Given the description of an element on the screen output the (x, y) to click on. 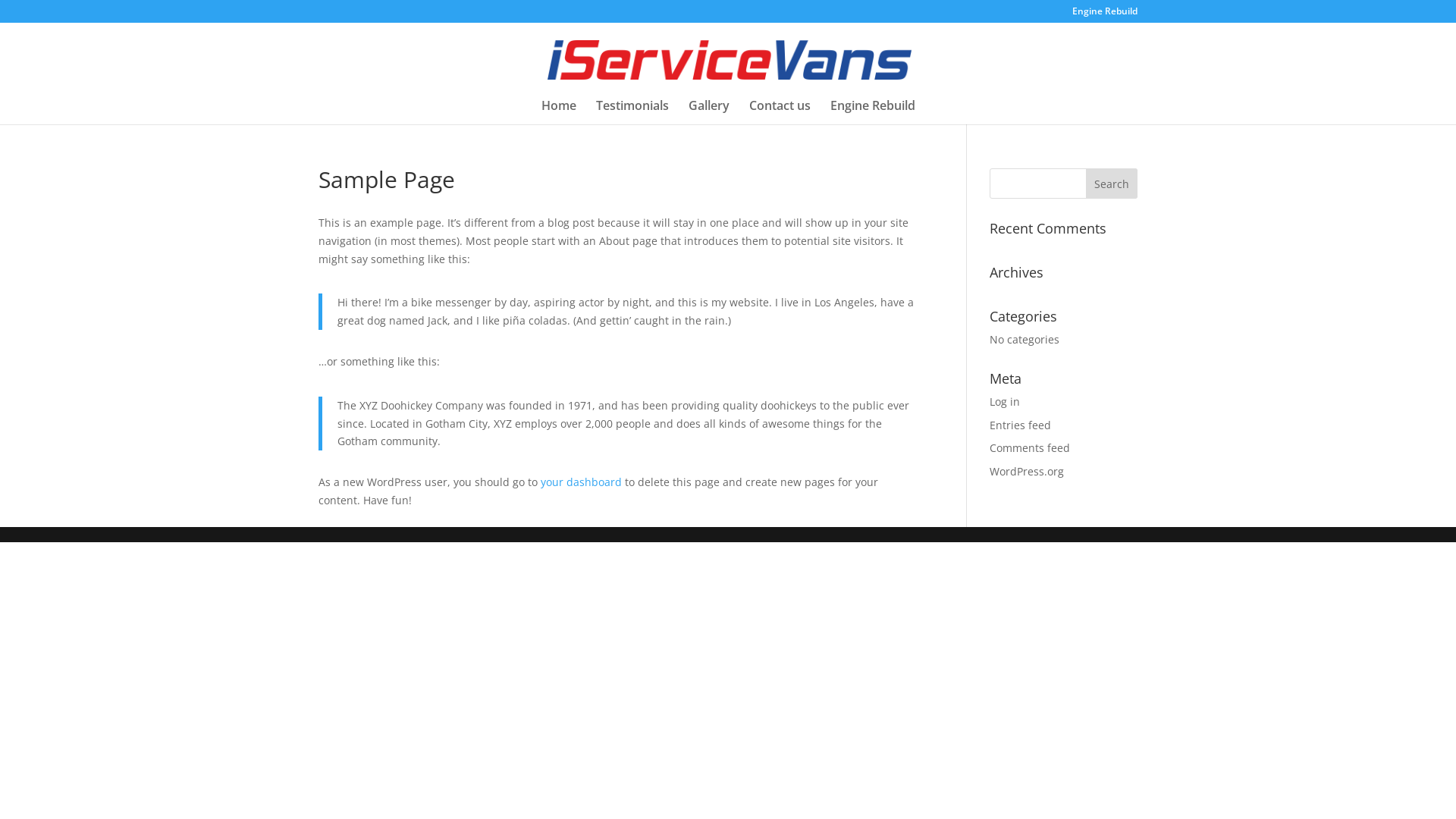
WordPress.org Element type: text (1026, 471)
Contact us Element type: text (779, 112)
Home Element type: text (558, 112)
Engine Rebuild Element type: text (871, 112)
Log in Element type: text (1004, 401)
Gallery Element type: text (708, 112)
your dashboard Element type: text (580, 481)
Comments feed Element type: text (1029, 447)
Testimonials Element type: text (632, 112)
Engine Rebuild Element type: text (1104, 14)
Search Element type: text (1111, 183)
Entries feed Element type: text (1020, 424)
